Given the description of an element on the screen output the (x, y) to click on. 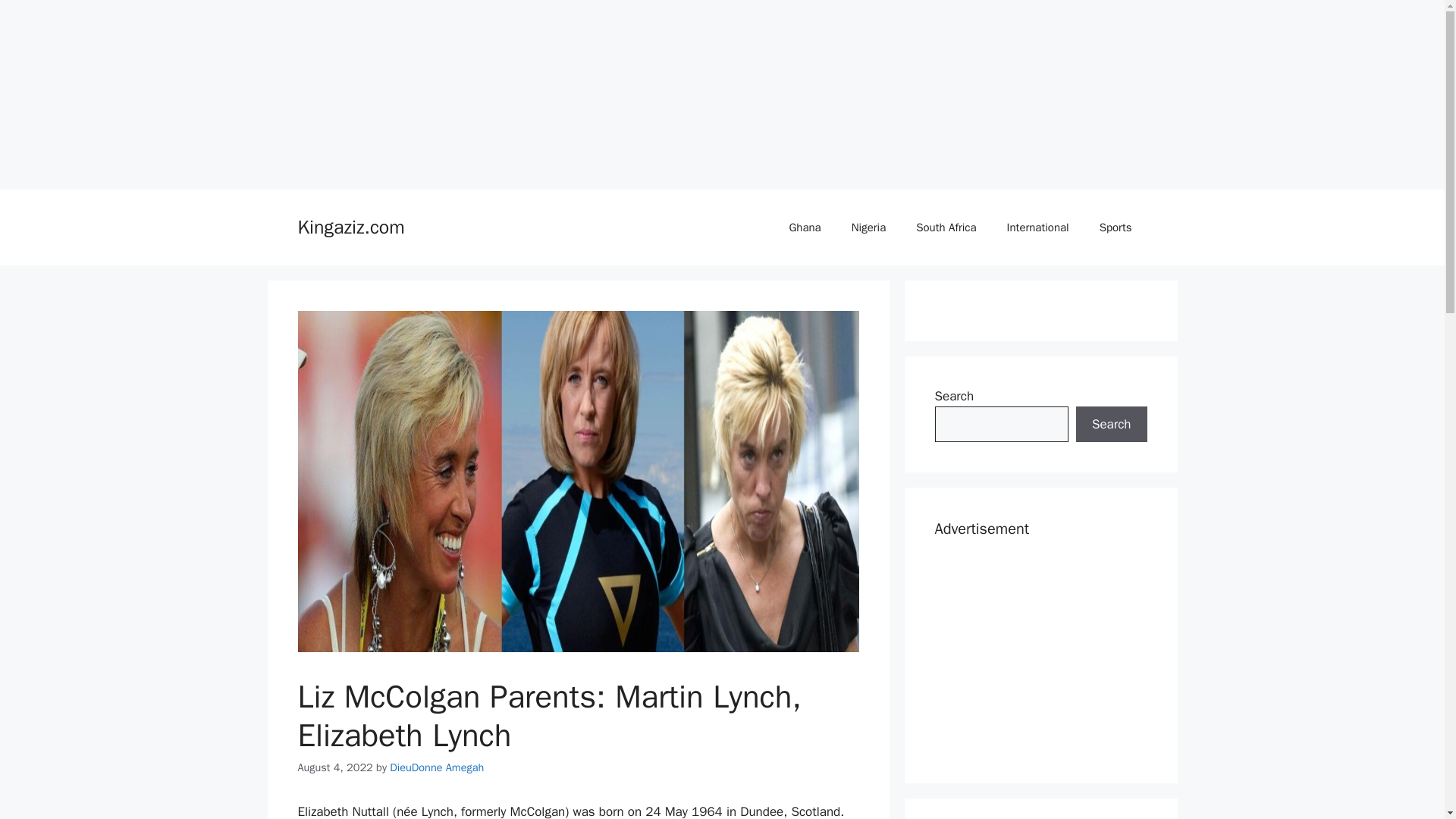
Search (1111, 424)
Nigeria (868, 227)
Ghana (804, 227)
View all posts by DieuDonne Amegah (436, 766)
International (1037, 227)
Kingaziz.com (350, 227)
South Africa (946, 227)
DieuDonne Amegah (436, 766)
Sports (1115, 227)
